Given the description of an element on the screen output the (x, y) to click on. 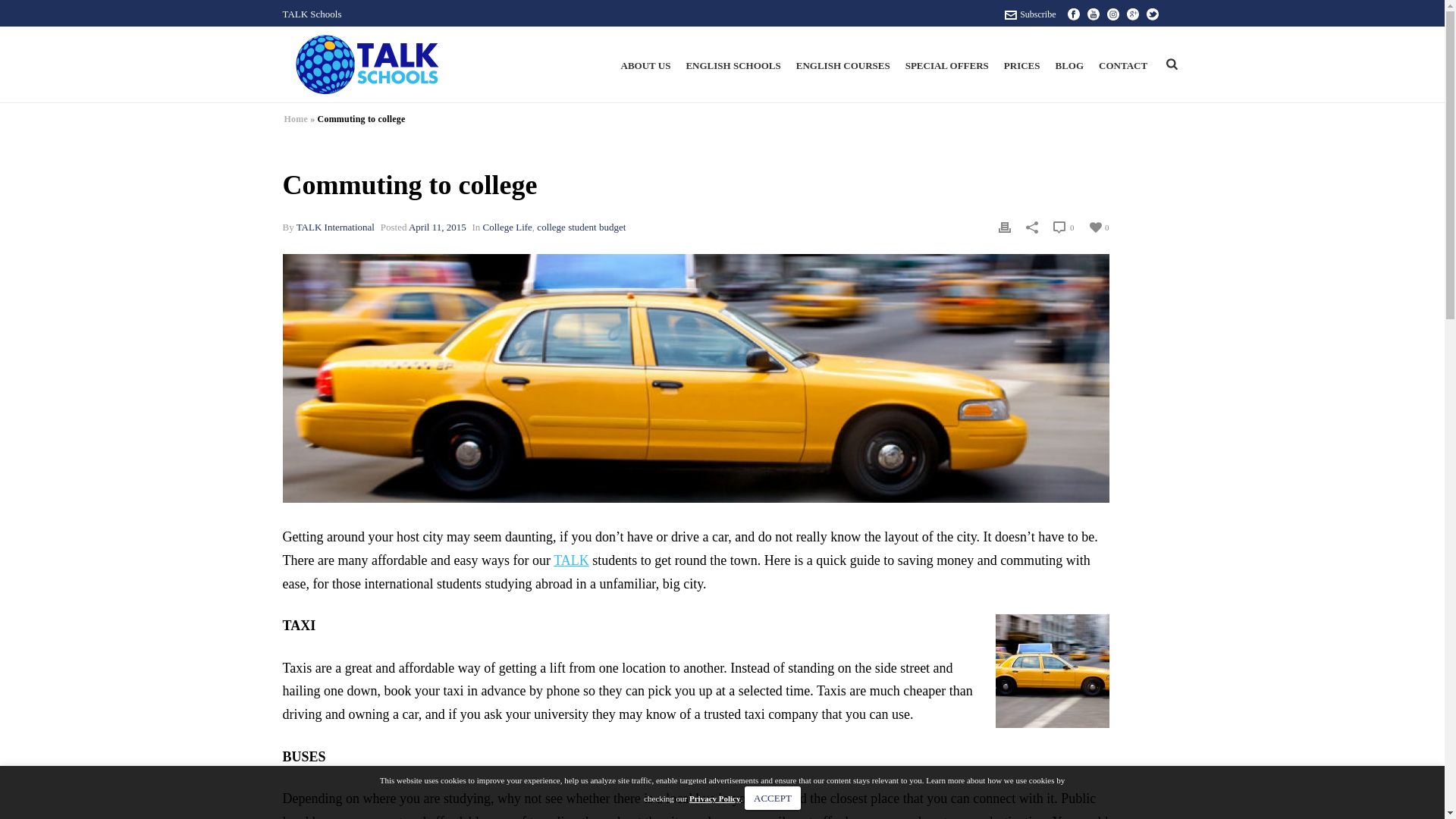
CONTACT (1122, 64)
ABOUT US (645, 64)
ENGLISH COURSES (843, 64)
SPECIAL OFFERS (946, 64)
Posts by TALK International (335, 226)
ENGLISH SCHOOLS (732, 64)
ENGLISH COURSES (843, 64)
CONTACT (1122, 64)
888-751-0083 (1122, 39)
PRICES (1021, 64)
Subscribe (1029, 14)
BLOG (1070, 64)
PRICES (1021, 64)
ENGLISH SCHOOLS (732, 64)
